Given the description of an element on the screen output the (x, y) to click on. 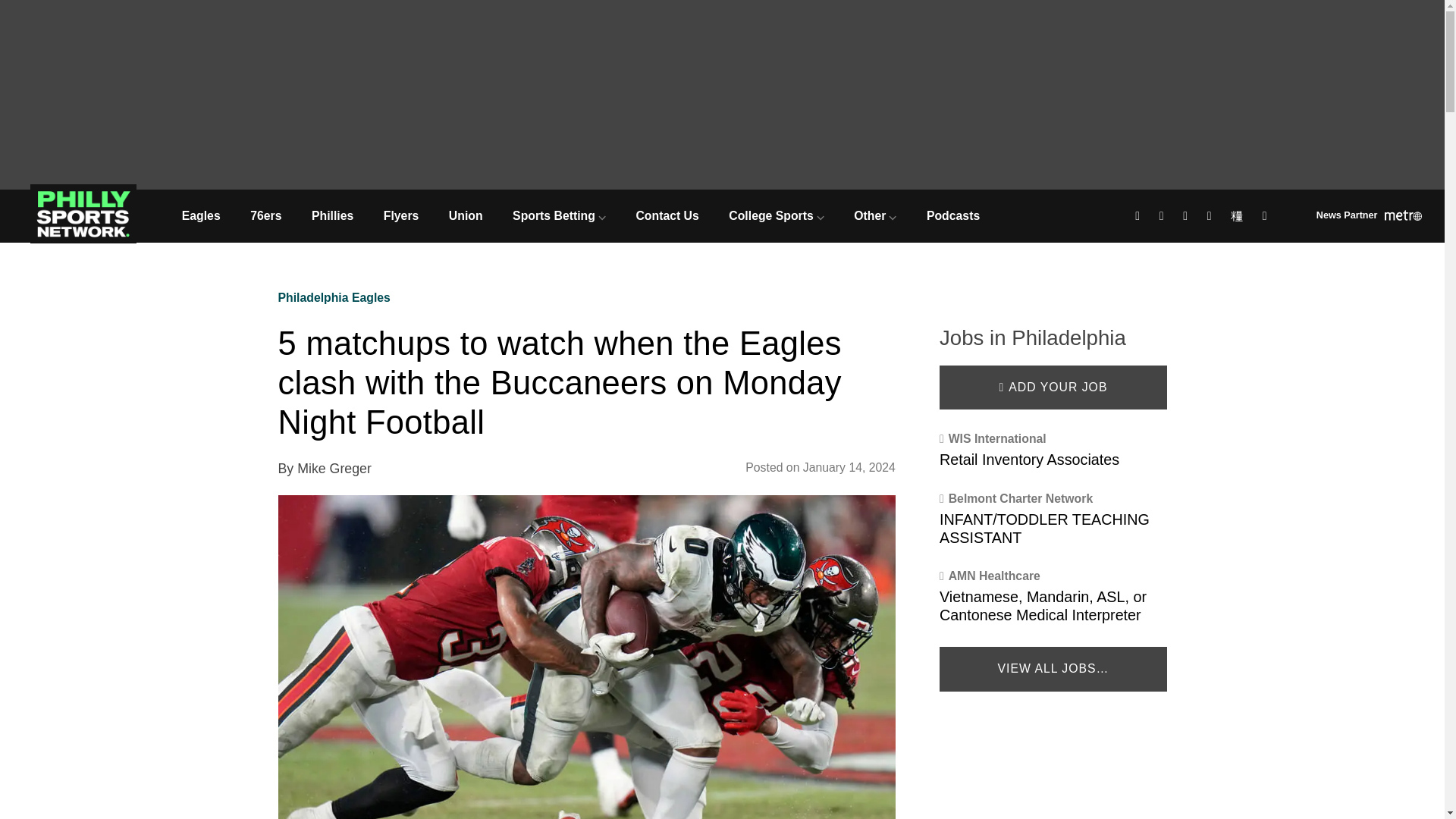
Other (876, 215)
Contact Us (667, 215)
76ers (265, 215)
College Sports (777, 215)
Podcasts (952, 215)
News Partner (1369, 216)
Flyers (400, 215)
Phillies (332, 215)
Eagles (200, 215)
Sports Betting (558, 215)
